Given the description of an element on the screen output the (x, y) to click on. 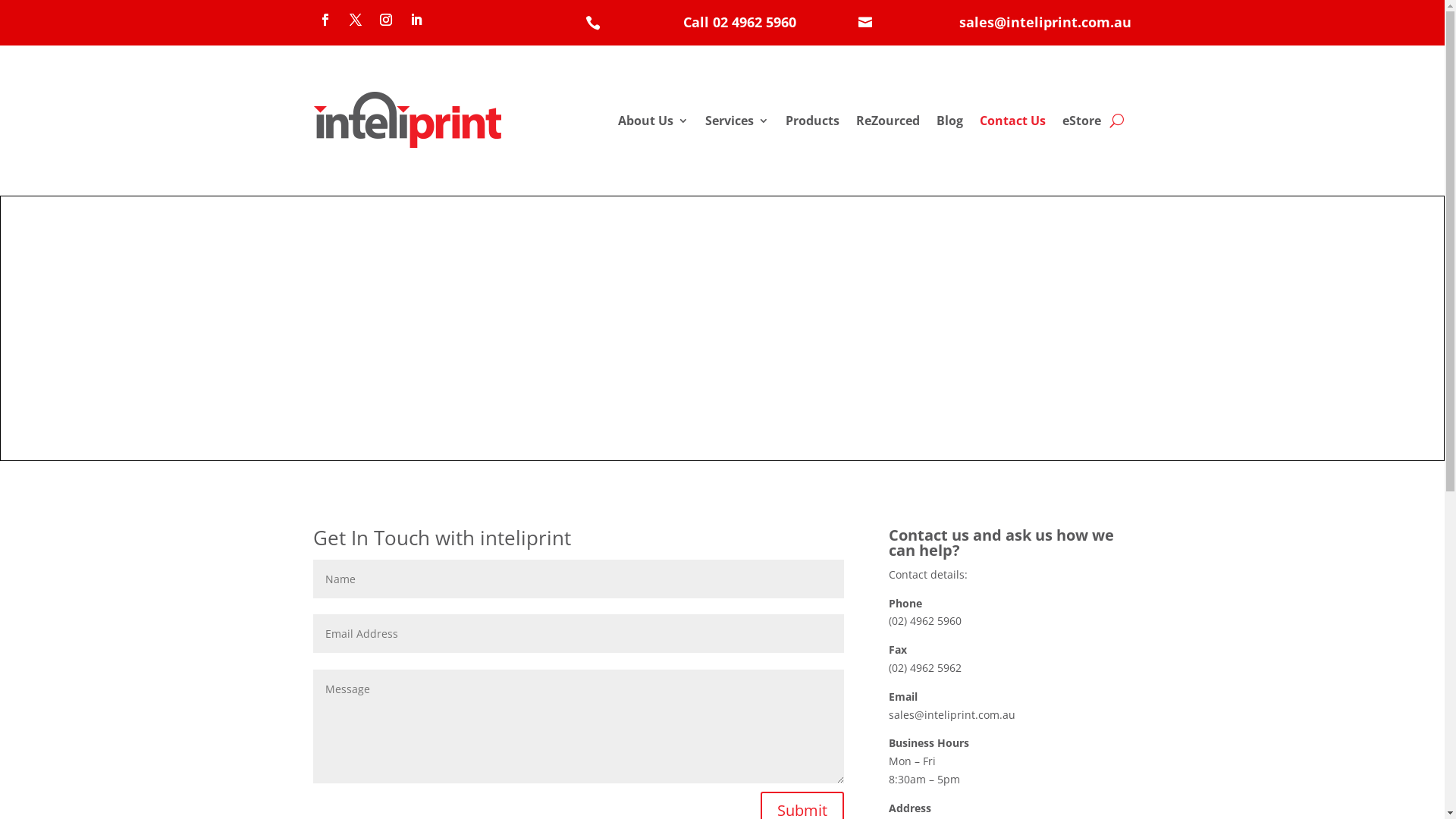
Blog Element type: text (948, 120)
Call 02 4962 5960 Element type: text (739, 21)
Services Element type: text (736, 120)
Follow on Facebook Element type: hover (324, 19)
sales@inteliprint.com.au Element type: text (1045, 21)
Contact Us Element type: text (1012, 120)
eStore Element type: text (1080, 120)
Products Element type: text (812, 120)
Follow on Instagram Element type: hover (385, 19)
Follow on X Element type: hover (354, 19)
Follow on LinkedIn Element type: hover (415, 19)
ReZourced Element type: text (887, 120)
About Us Element type: text (652, 120)
